Given the description of an element on the screen output the (x, y) to click on. 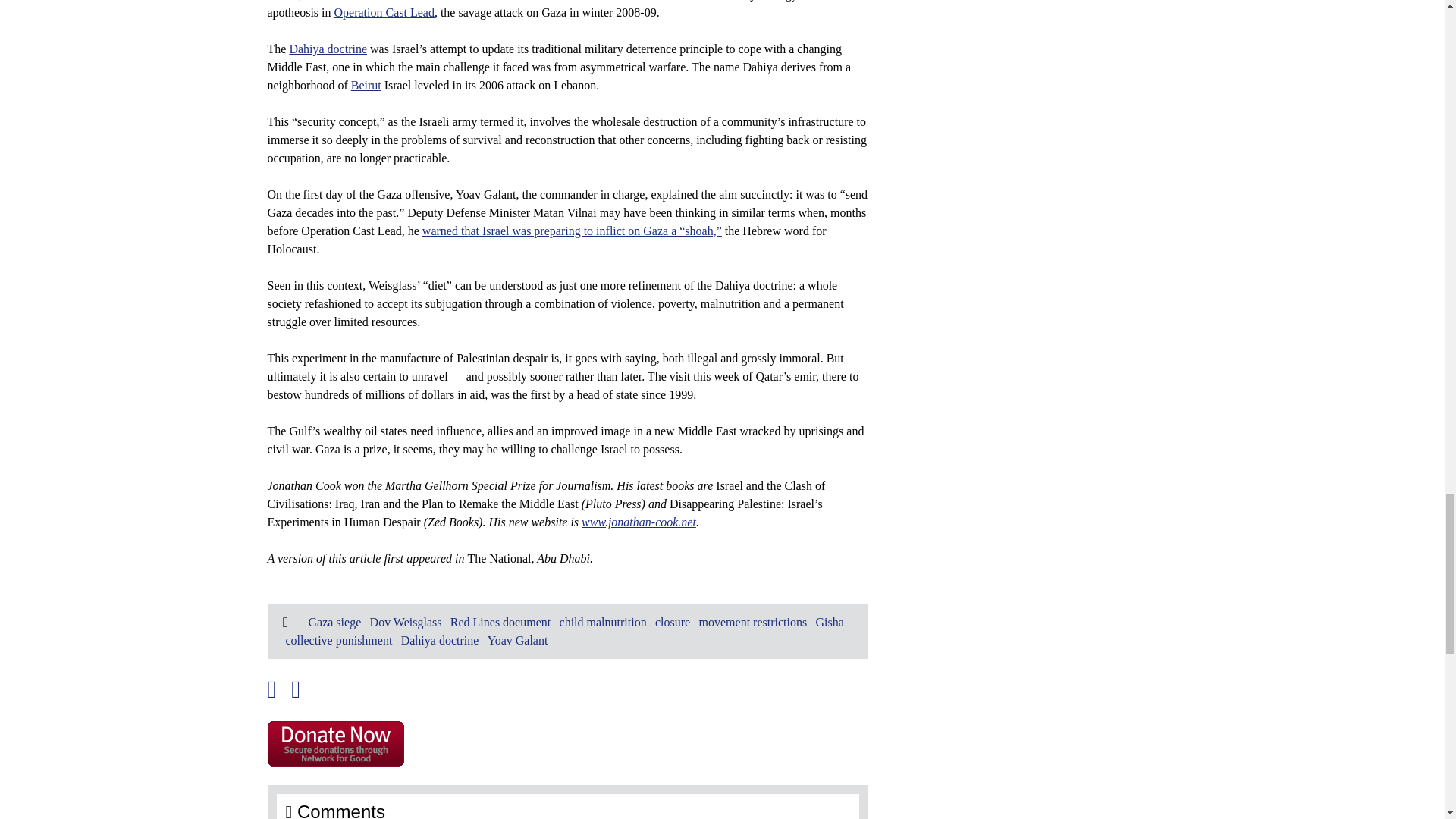
collective punishment (338, 640)
Beirut (365, 84)
Gisha (829, 621)
Gaza siege (334, 621)
Dov Weisglass (405, 621)
www.jonathan-cook.net (637, 521)
Red Lines document (499, 621)
Dahiya doctrine (327, 48)
Operation Cast Lead (383, 11)
child malnutrition (602, 621)
